Given the description of an element on the screen output the (x, y) to click on. 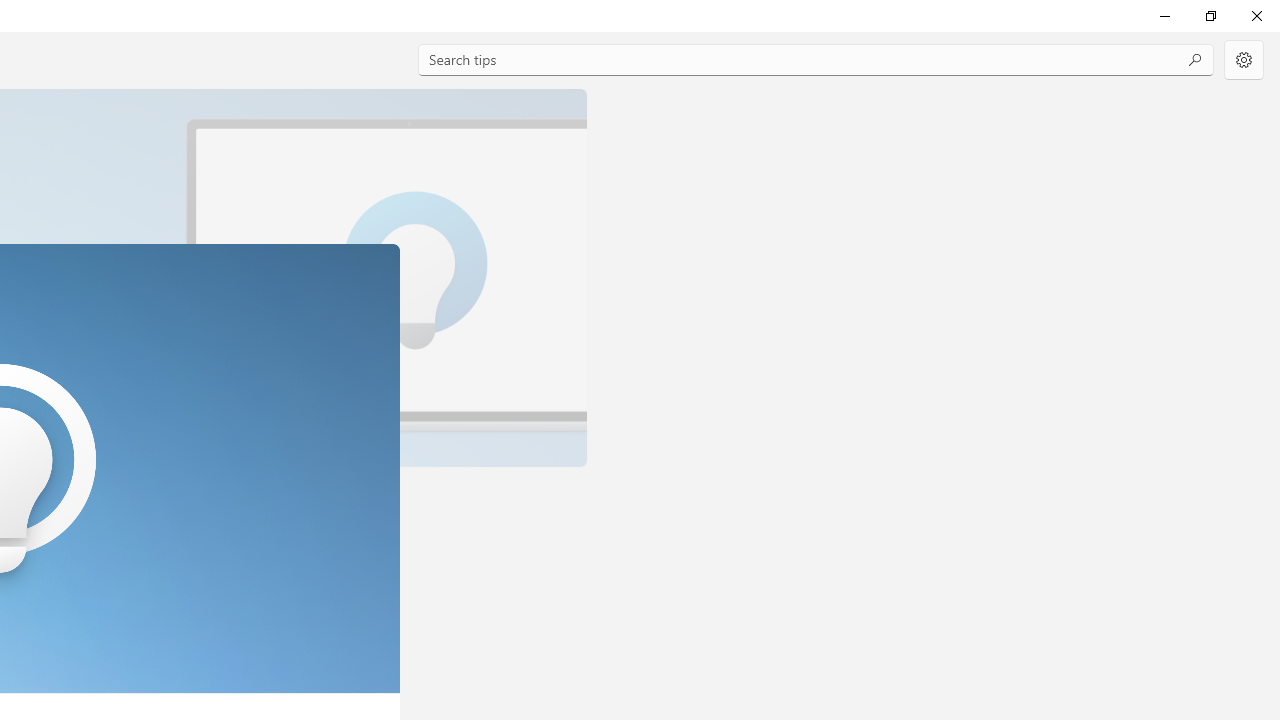
Minimize Tips (1164, 15)
Search tips (815, 59)
Close Tips (1256, 15)
Restore Tips (1210, 15)
Settings (1243, 59)
